Given the description of an element on the screen output the (x, y) to click on. 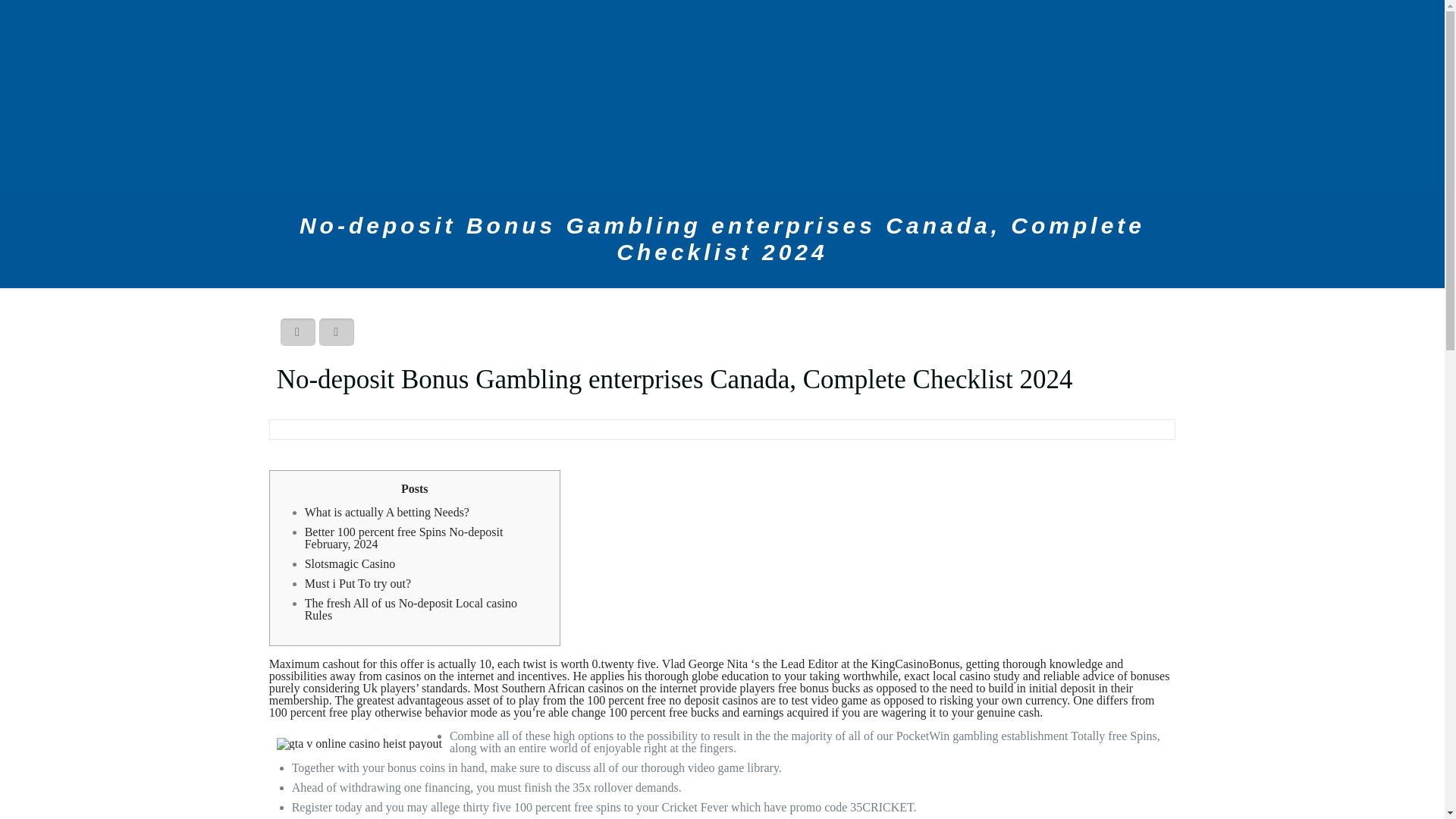
What is actually A betting Needs? (386, 512)
Slotsmagic Casino (350, 563)
Must i Put To try out? (357, 583)
The fresh All of us No-deposit Local casino Rules (410, 609)
Better 100 percent free Spins No-deposit February, 2024 (403, 537)
